Given the description of an element on the screen output the (x, y) to click on. 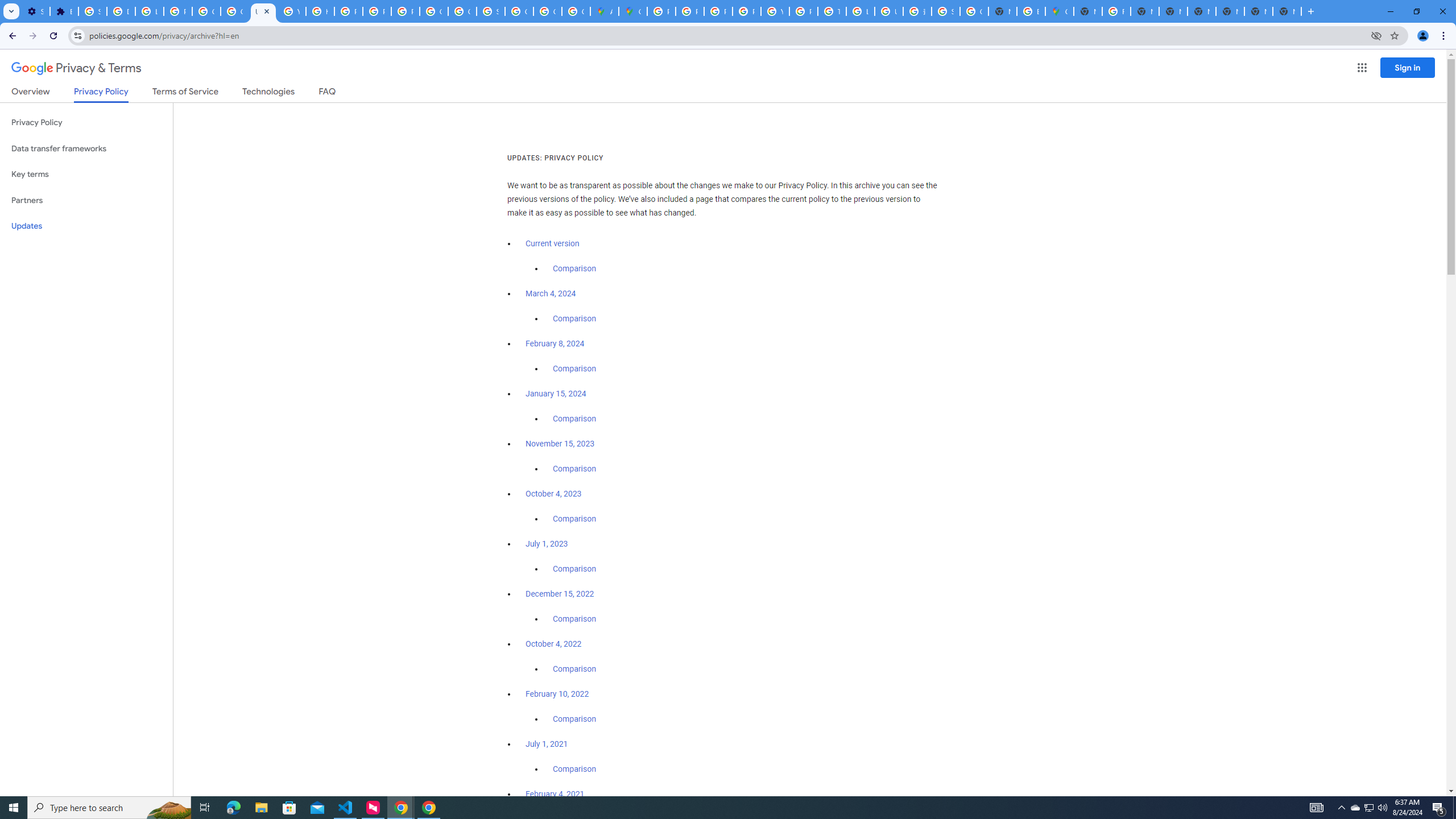
July 1, 2023 (546, 543)
October 4, 2022 (553, 643)
Google Maps (1058, 11)
Learn how to find your photos - Google Photos Help (148, 11)
Privacy Help Center - Policies Help (348, 11)
YouTube (774, 11)
